Given the description of an element on the screen output the (x, y) to click on. 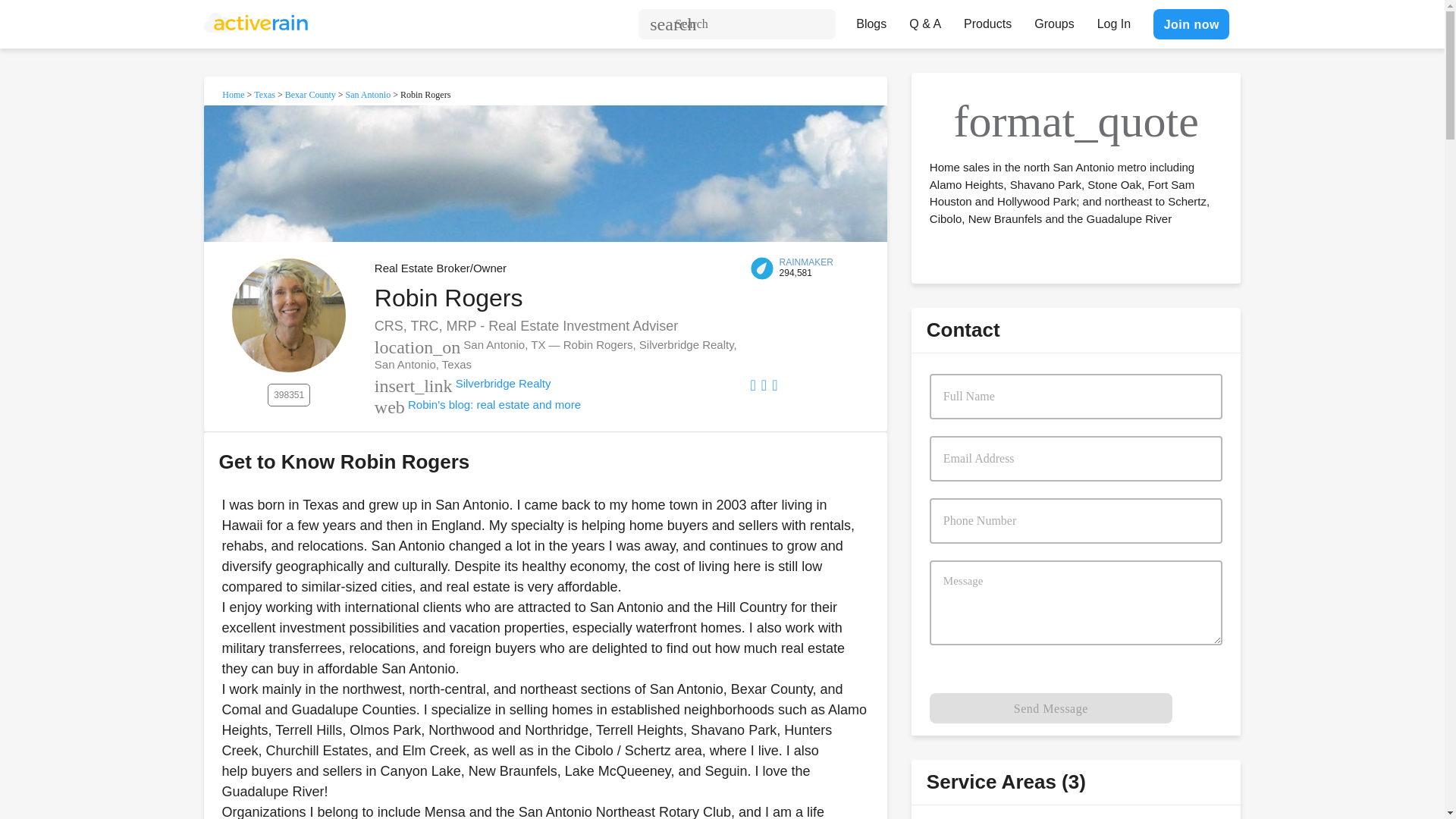
Products (986, 19)
San Antonio (368, 94)
Home (233, 94)
Groups (1053, 19)
Join now (1190, 24)
web Robin's blog: real estate and more (477, 403)
Texas (264, 94)
Blogs (870, 19)
Bexar County (310, 94)
Send Message (1051, 707)
